Given the description of an element on the screen output the (x, y) to click on. 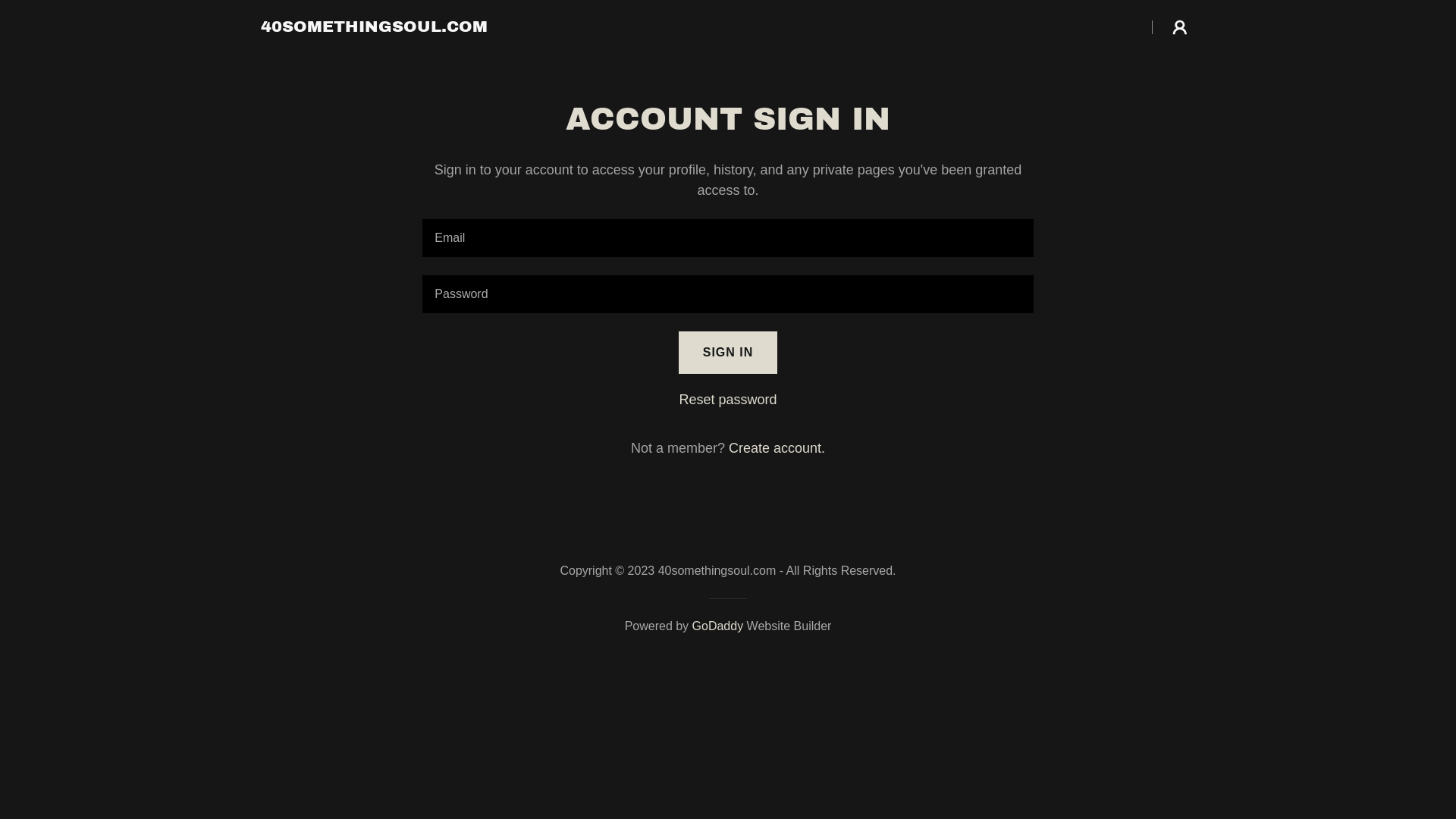
GoDaddy Element type: text (717, 625)
40SOMETHINGSOUL.COM Element type: text (373, 26)
Reset password Element type: text (727, 399)
Create account. Element type: text (776, 447)
SIGN IN Element type: text (728, 352)
